Given the description of an element on the screen output the (x, y) to click on. 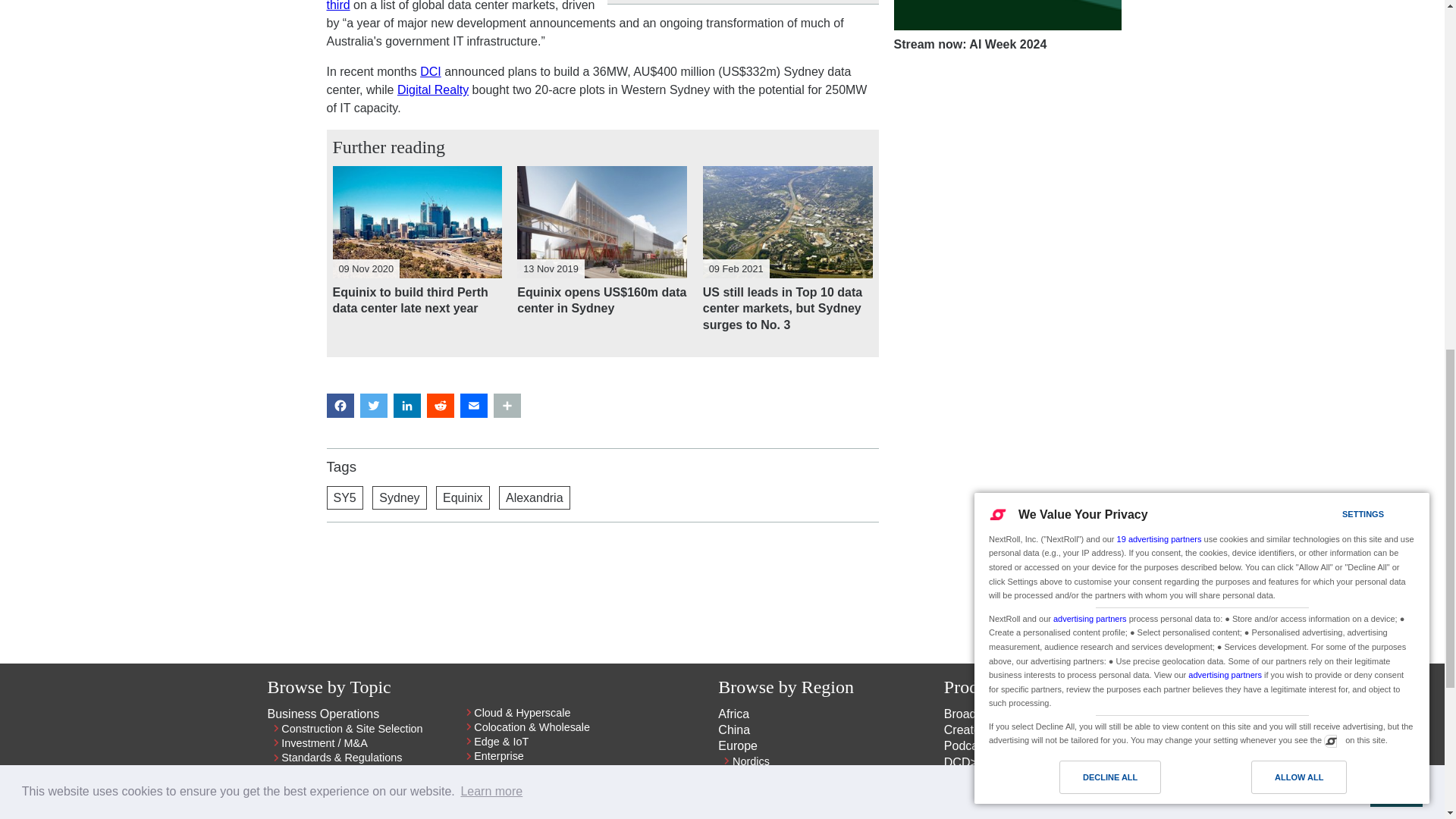
3rd party ad content (1007, 165)
3rd party ad content (601, 586)
3rd party ad content (1007, 391)
SY5 Sydney Equinix Alexandria (601, 497)
